Given the description of an element on the screen output the (x, y) to click on. 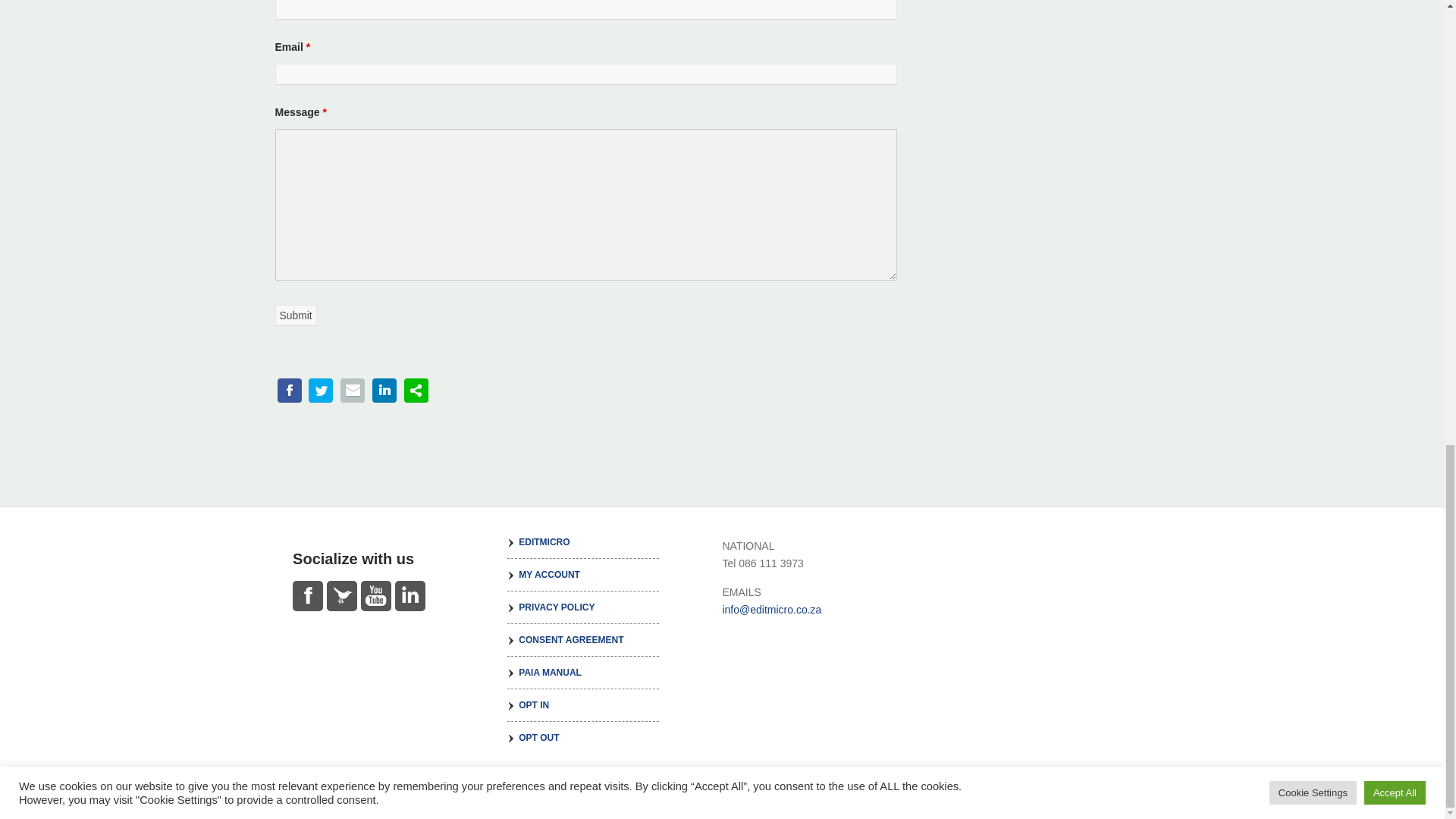
Youtube (376, 595)
LinkedIn (409, 595)
Submit (295, 314)
Twitter (341, 595)
Facebook (307, 595)
